Given the description of an element on the screen output the (x, y) to click on. 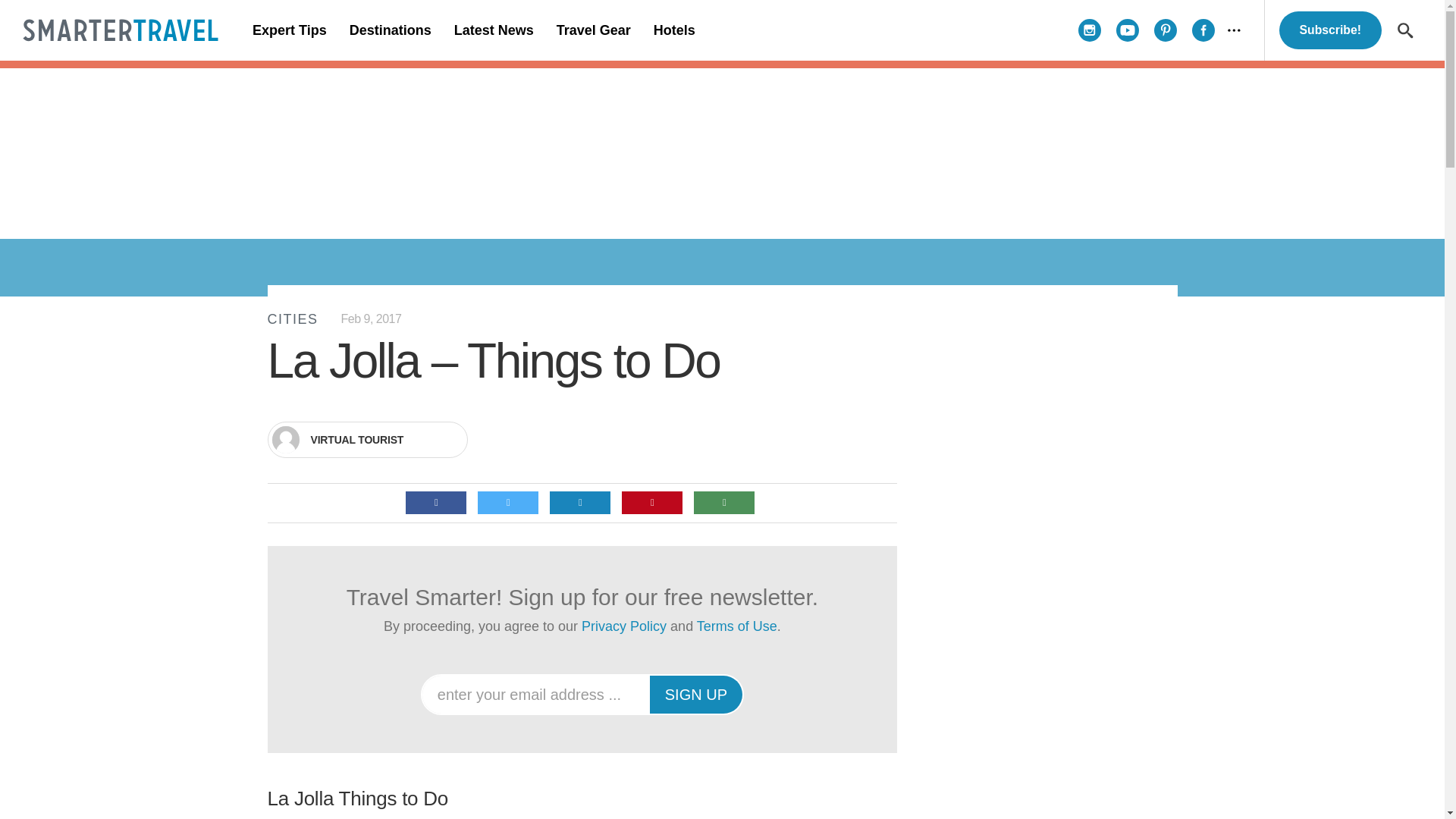
Hotels (674, 30)
Expert Tips (289, 30)
Latest News (493, 30)
Destinations (389, 30)
Subscribe! (1330, 30)
Travel Gear (593, 30)
